Given the description of an element on the screen output the (x, y) to click on. 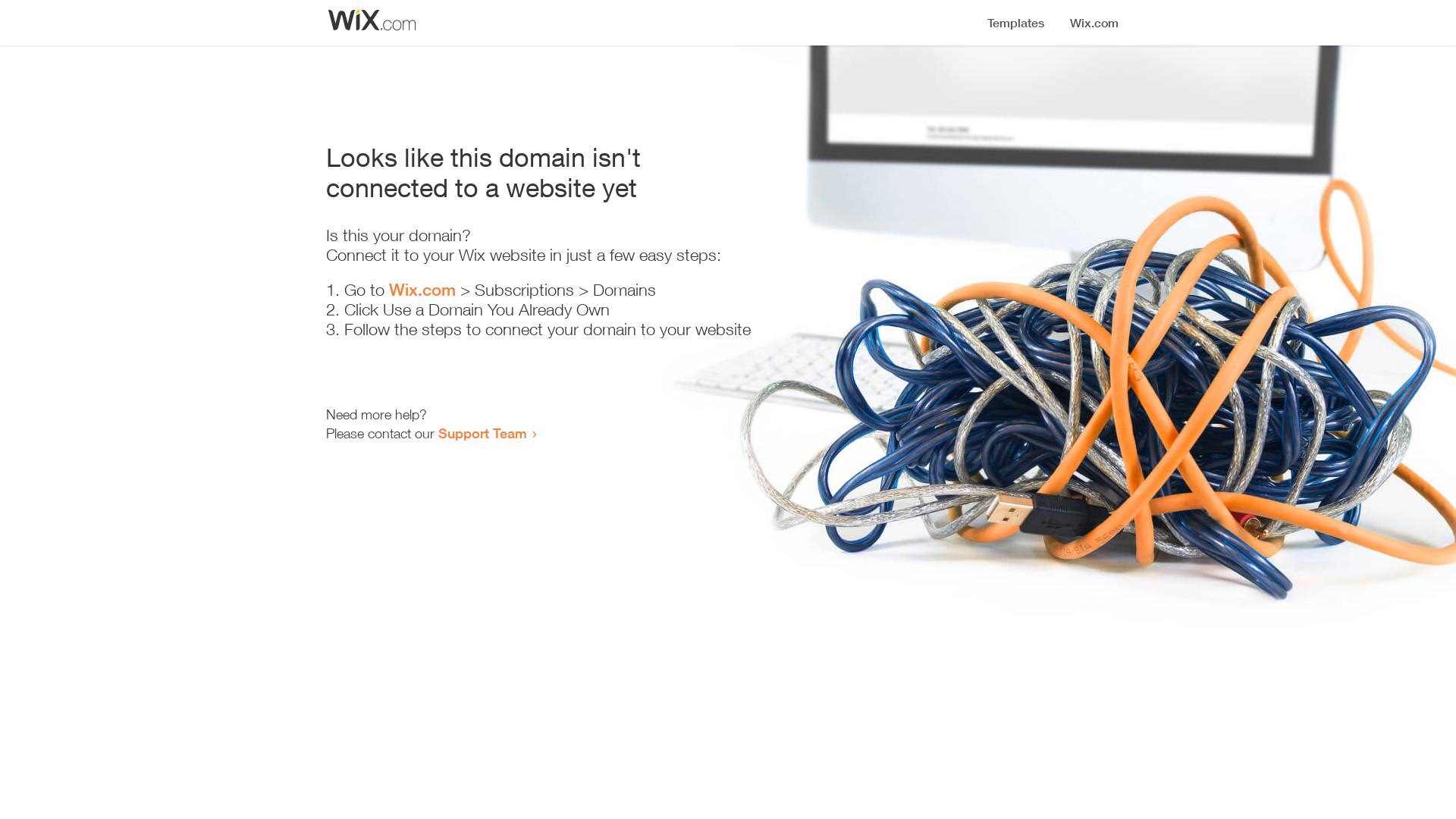
Wix.com Element type: text (422, 289)
Support Team Element type: text (482, 432)
